Given the description of an element on the screen output the (x, y) to click on. 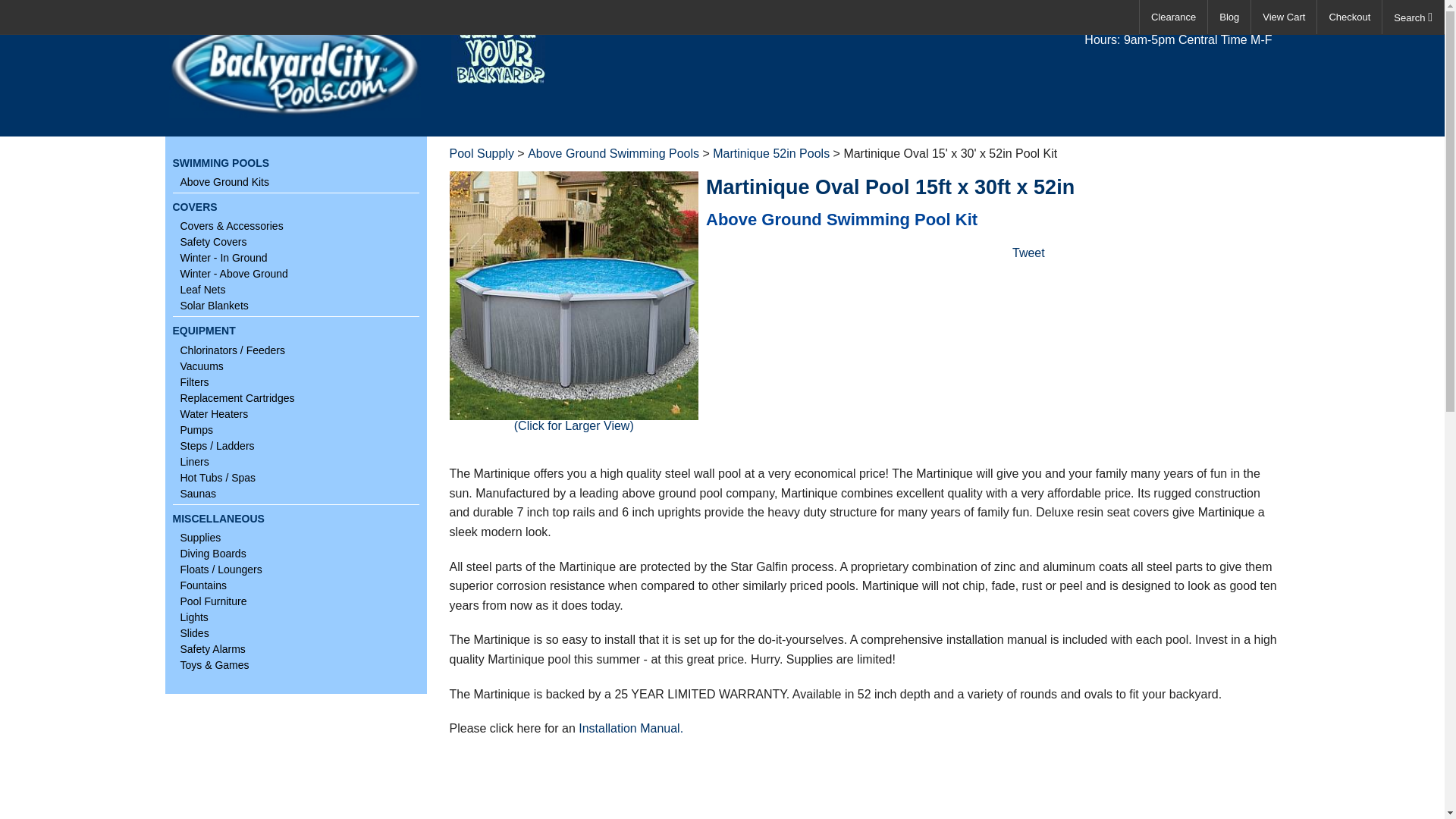
Clearance (1173, 17)
View Cart (1283, 17)
Checkout (1349, 17)
888-253-9736 (1226, 23)
Above Ground Kits (296, 181)
Search (1412, 17)
Blog (1229, 17)
